Given the description of an element on the screen output the (x, y) to click on. 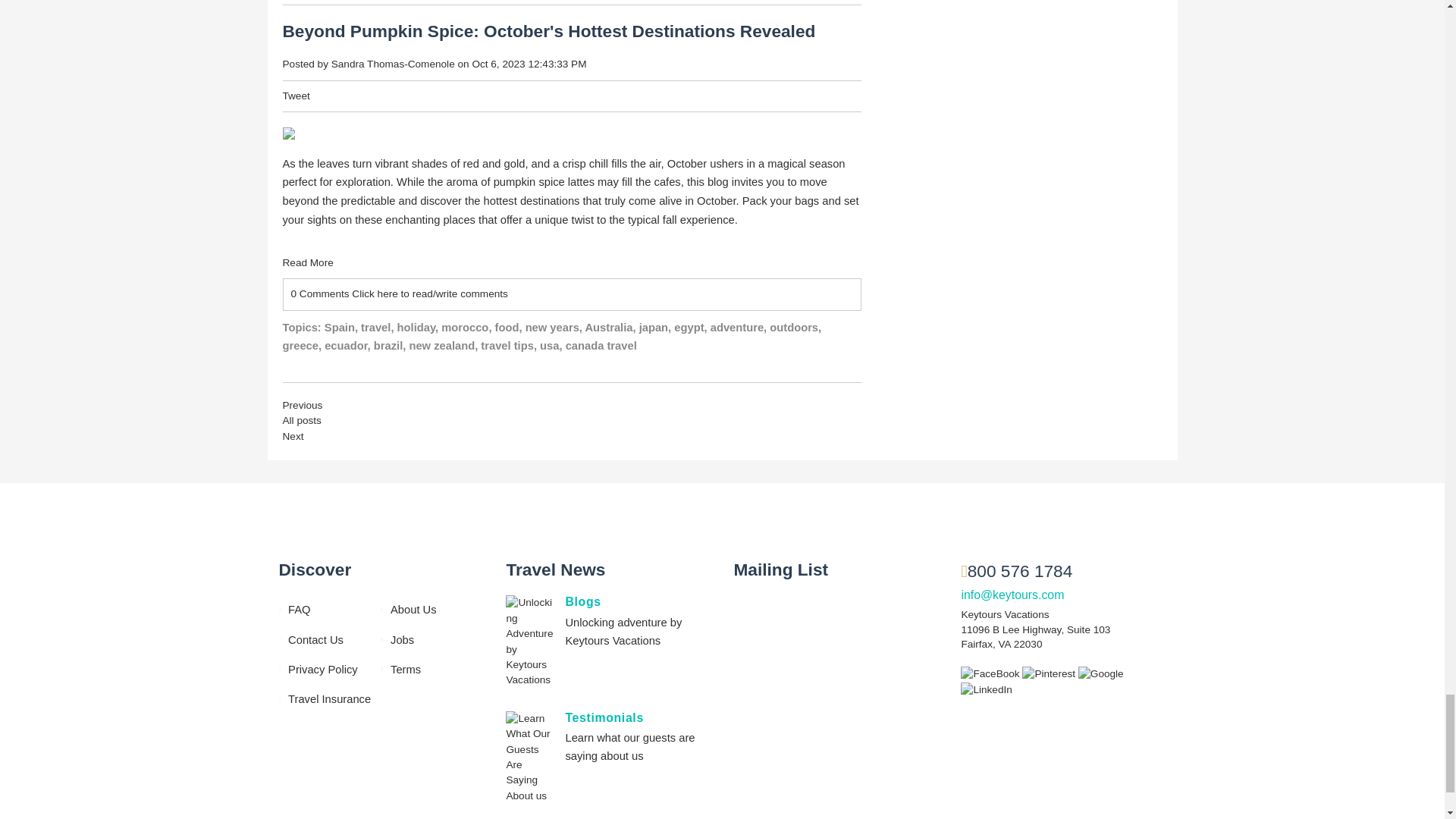
facebook (991, 673)
linked id (985, 689)
google (1101, 673)
pinterest (1049, 673)
